Given the description of an element on the screen output the (x, y) to click on. 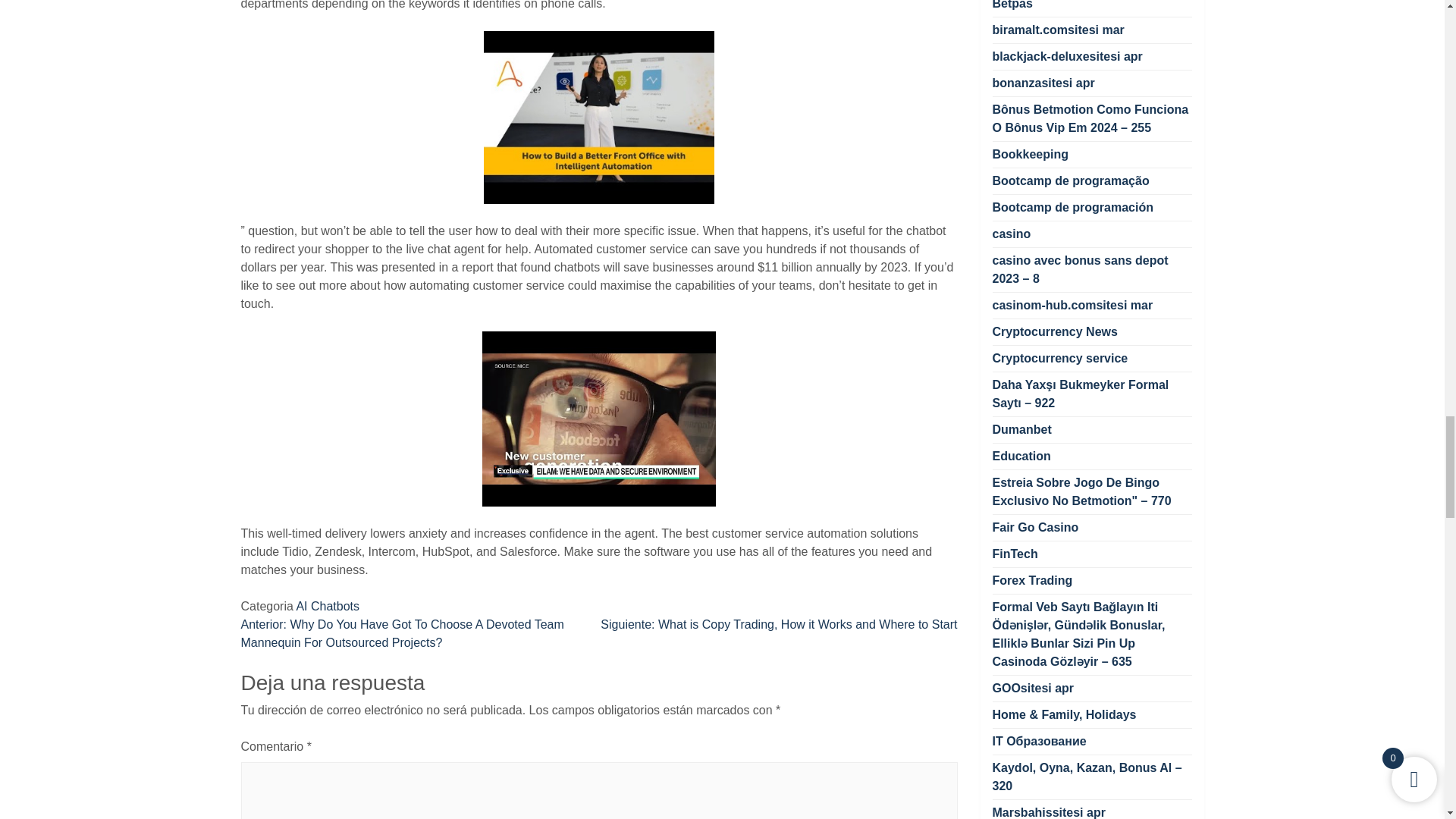
AI Chatbots (327, 605)
